Given the description of an element on the screen output the (x, y) to click on. 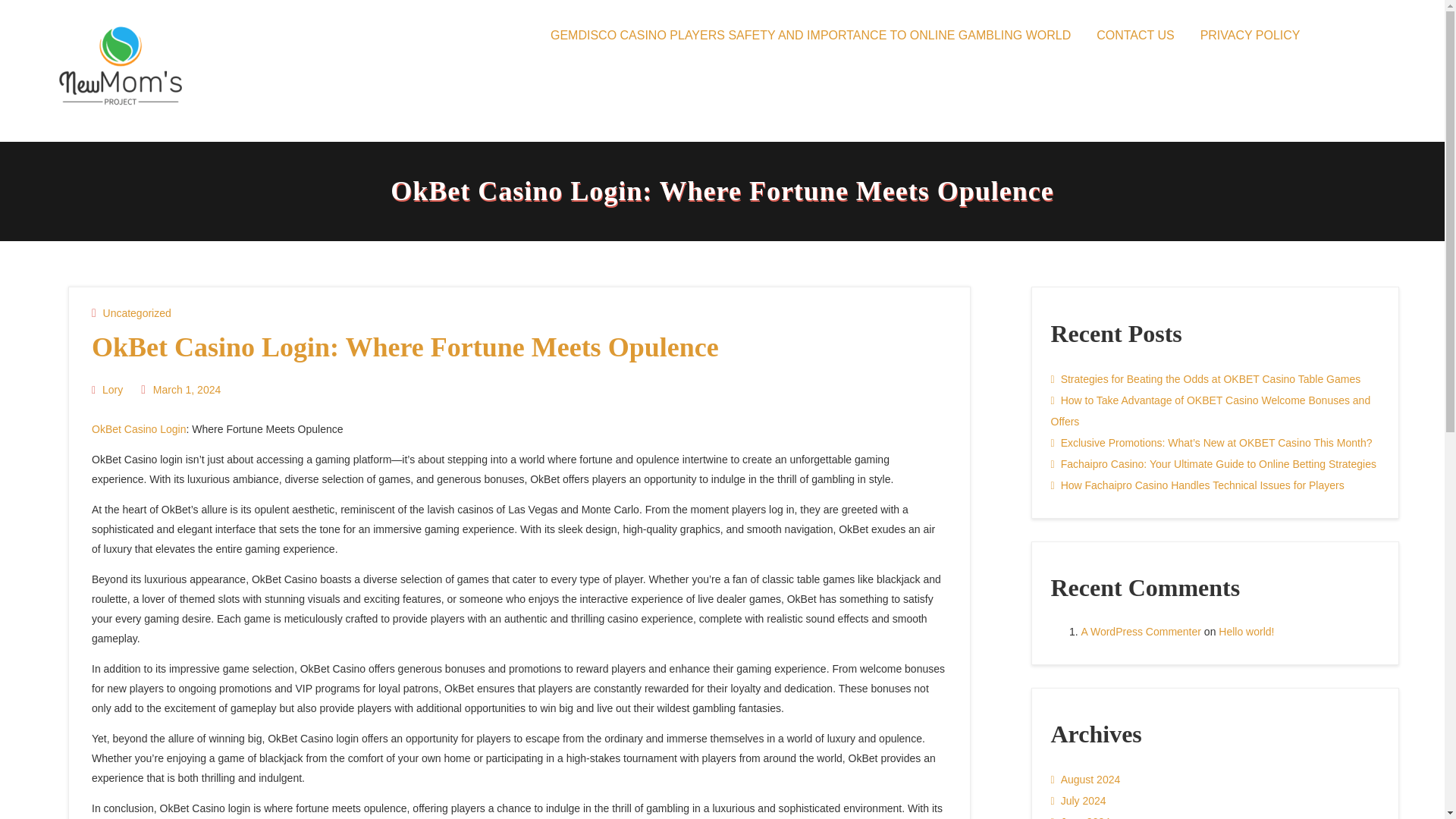
Lory (110, 389)
PRIVACY POLICY (1250, 35)
A WordPress Commenter (1141, 631)
August 2024 (1086, 779)
CONTACT US (1135, 35)
Hello world! (1246, 631)
July 2024 (1078, 800)
March 1, 2024 (185, 389)
